Given the description of an element on the screen output the (x, y) to click on. 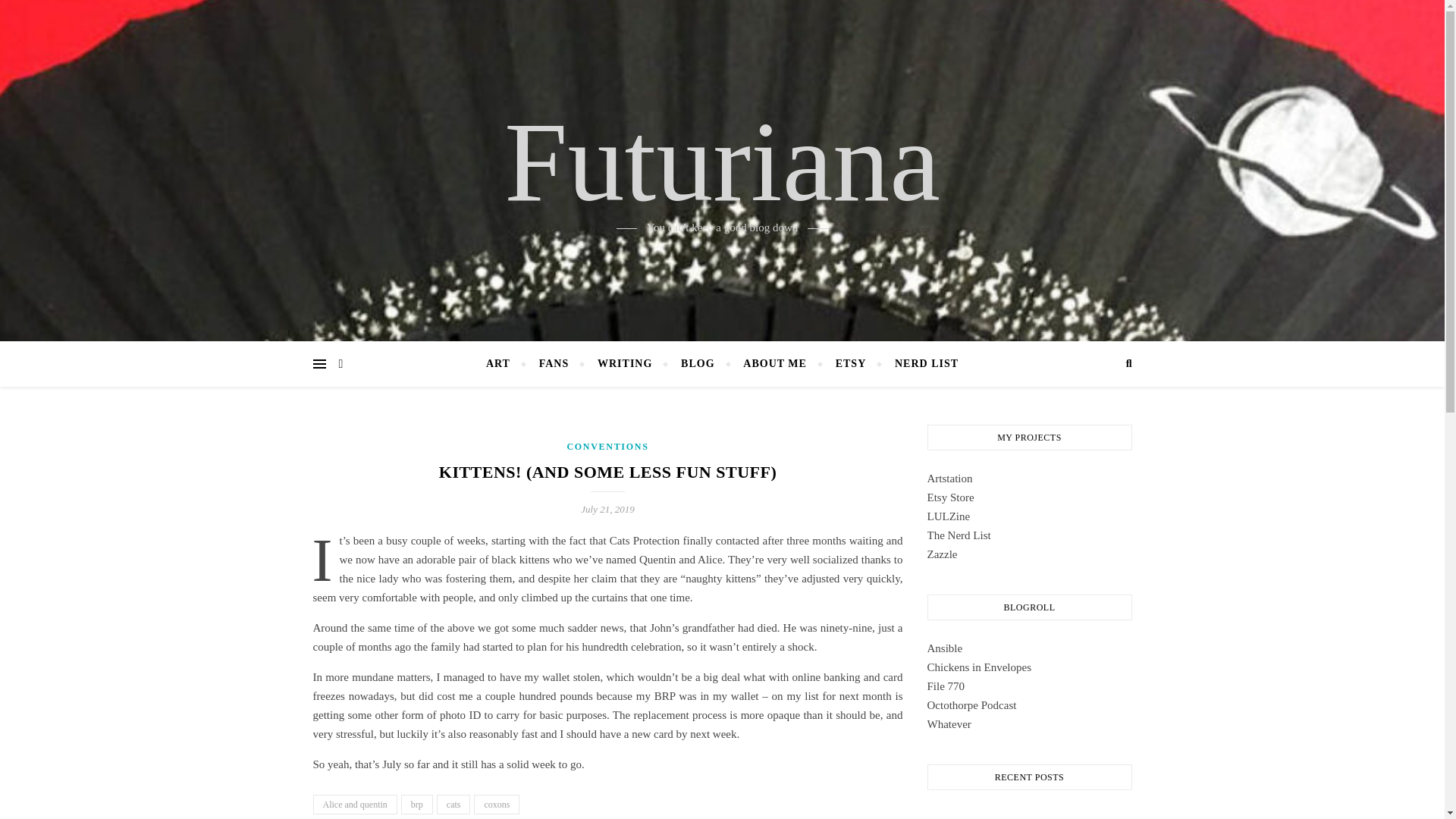
CONVENTIONS (606, 446)
Etsy Store (950, 497)
BLOG (697, 363)
Our new fanzine! (947, 516)
Ansible (944, 648)
Octothorpe Podcast (971, 705)
ABOUT ME (774, 363)
Chickens in Envelopes (978, 666)
The Nerd List (958, 535)
Whatever (948, 724)
